Given the description of an element on the screen output the (x, y) to click on. 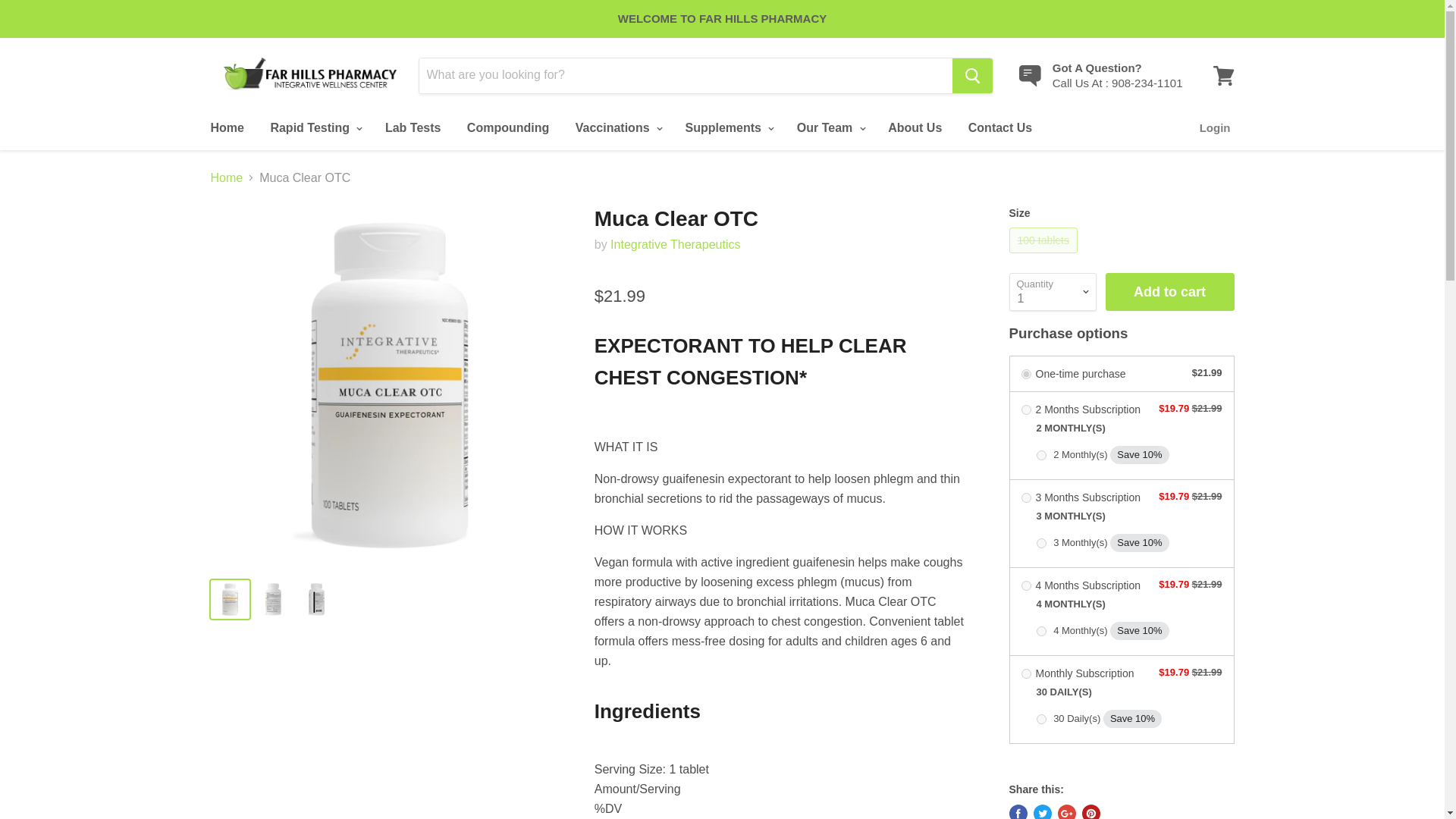
2 Months Subscription (1025, 409)
Login (1215, 128)
View cart (1223, 75)
Compounding (507, 128)
4 Months Subscription (1025, 585)
Vaccinations (616, 128)
3473015010 (1040, 718)
Rapid Testing (314, 128)
Monthly Subscription (1025, 673)
3473047778 (1040, 455)
Supplements (726, 128)
Integrative Therapeutics (674, 244)
3633578210 (1040, 631)
Lab Tests (413, 128)
